Given the description of an element on the screen output the (x, y) to click on. 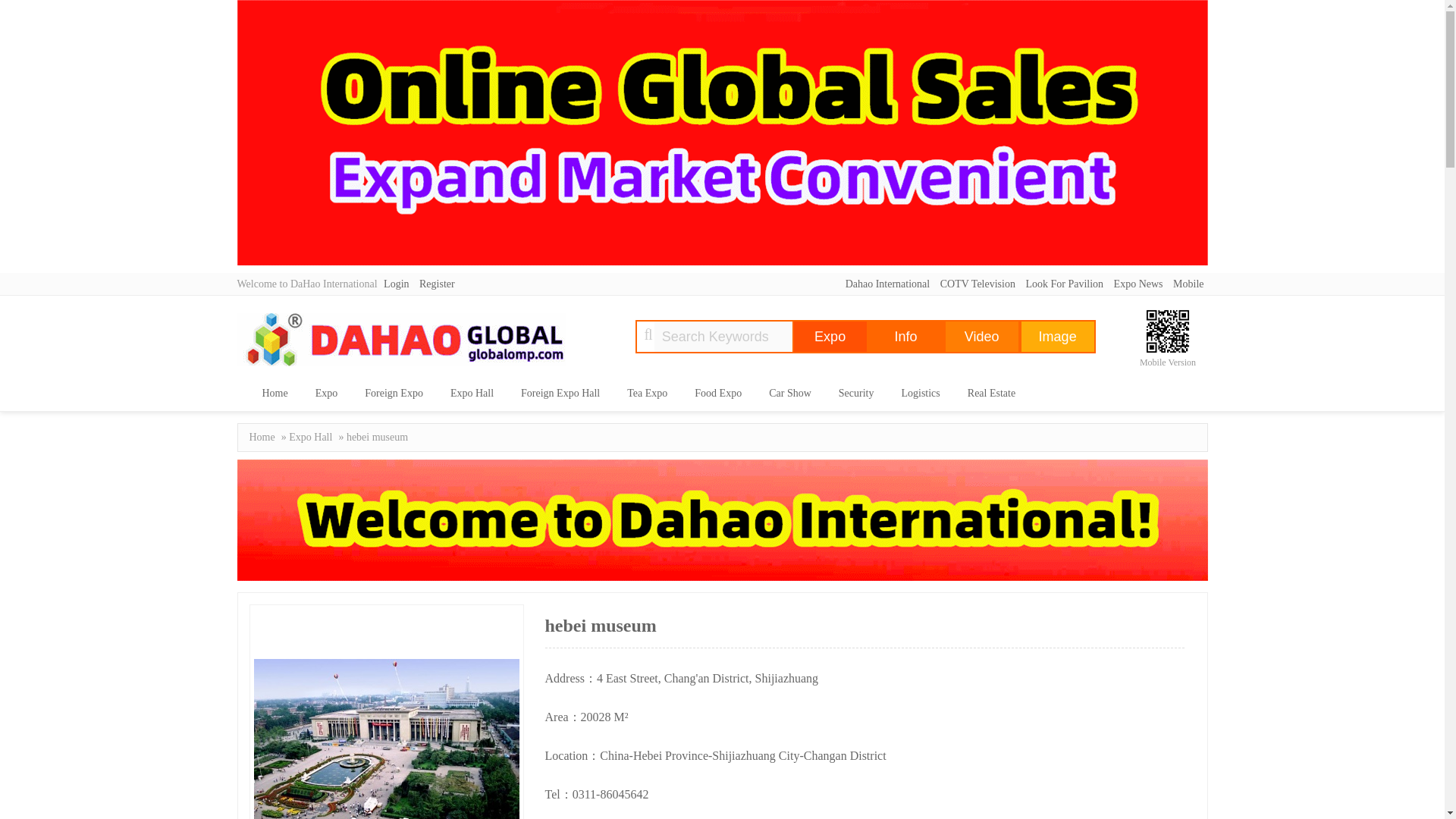
Mobile (1188, 283)
Info (905, 336)
Video (981, 336)
Expo Hall (309, 437)
Home (275, 392)
Expo (326, 392)
Food Expo (718, 392)
Dahao International (887, 283)
Home (261, 437)
Expo (829, 336)
Real Estate (991, 392)
Tea Expo (647, 392)
Look For Pavilion (1064, 283)
Foreign Expo (393, 392)
Info (905, 336)
